Given the description of an element on the screen output the (x, y) to click on. 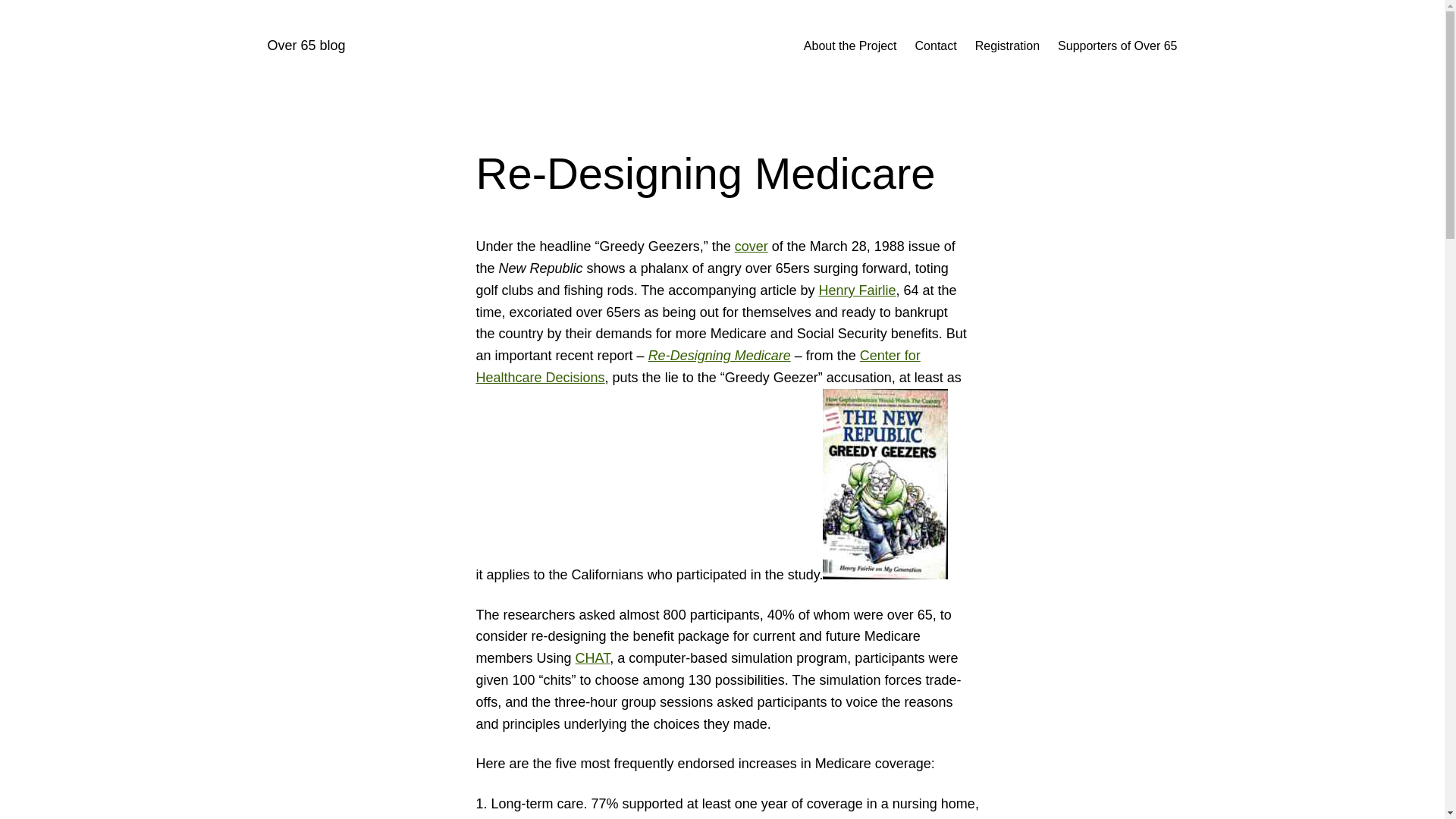
Supporters of Over 65 (1117, 46)
About the Project (849, 46)
Center for Healthcare Decisions (698, 366)
CHAT (592, 657)
Henry Fairlie (856, 290)
Re-Designing Medicare (718, 355)
Over 65 blog (305, 45)
Contact (935, 46)
cover (751, 246)
Registration (1007, 46)
